Given the description of an element on the screen output the (x, y) to click on. 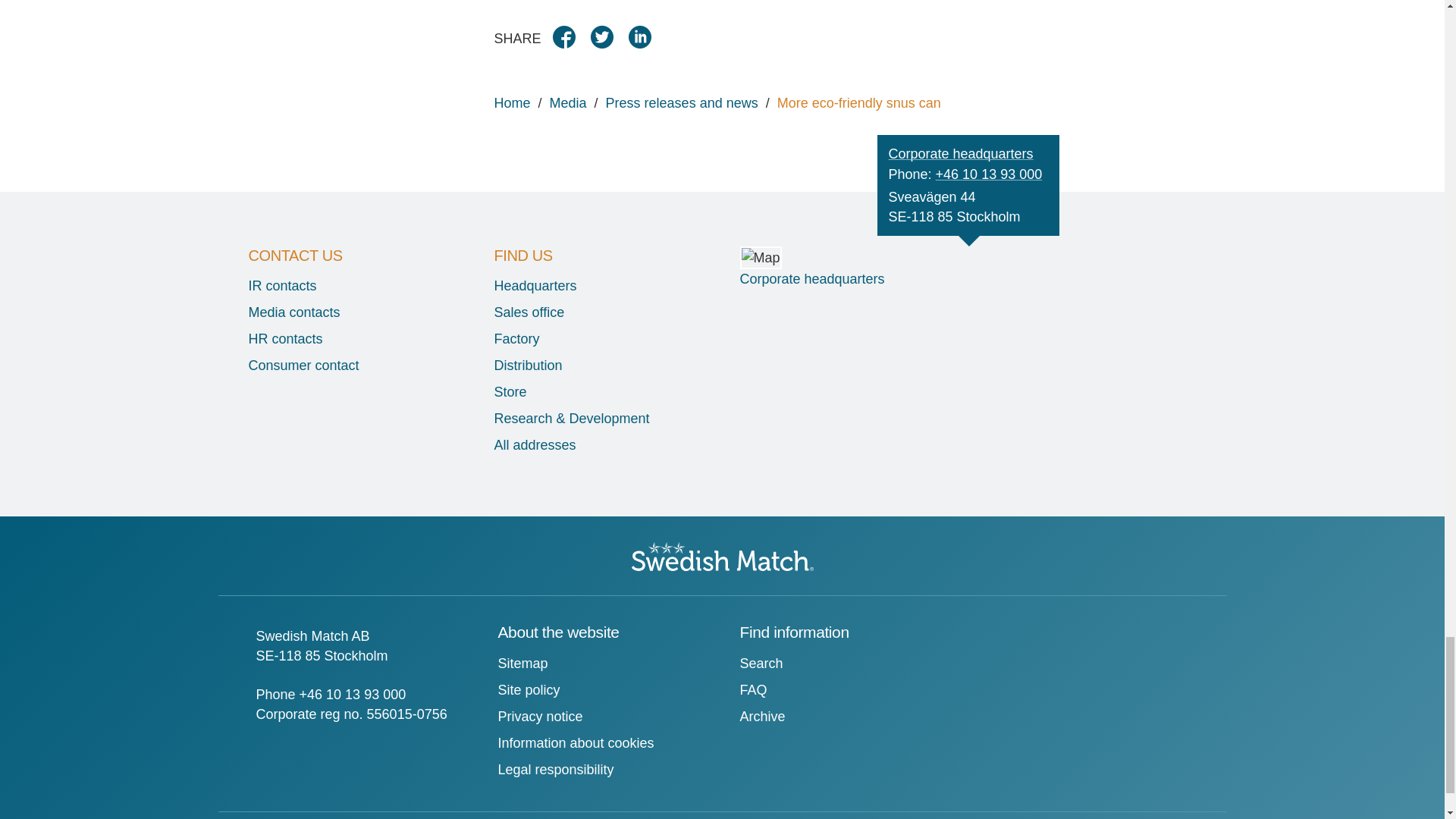
LinkedIn (645, 42)
Twitter (607, 42)
facebook (569, 42)
